Given the description of an element on the screen output the (x, y) to click on. 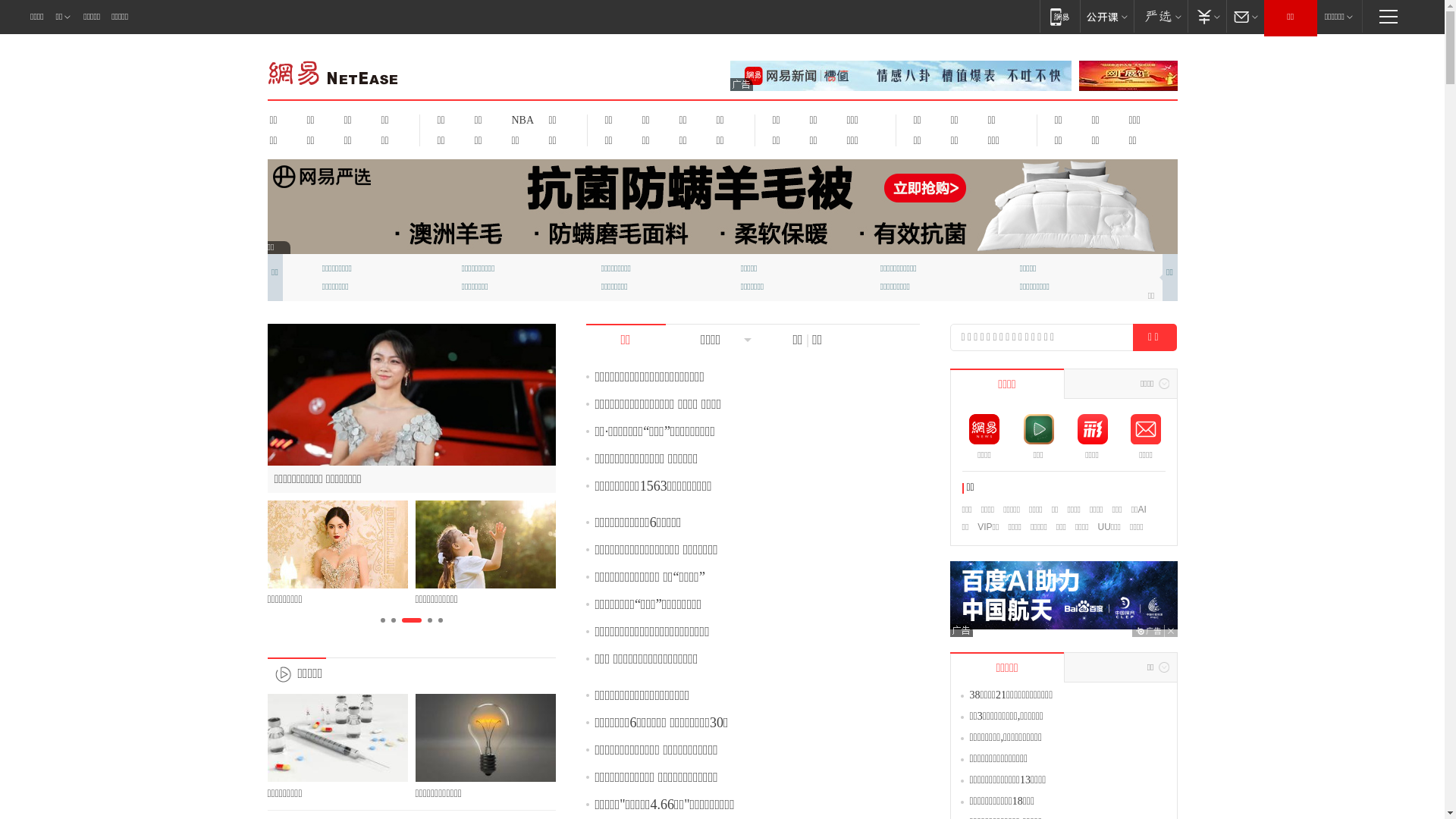
NBA Element type: text (520, 119)
